Given the description of an element on the screen output the (x, y) to click on. 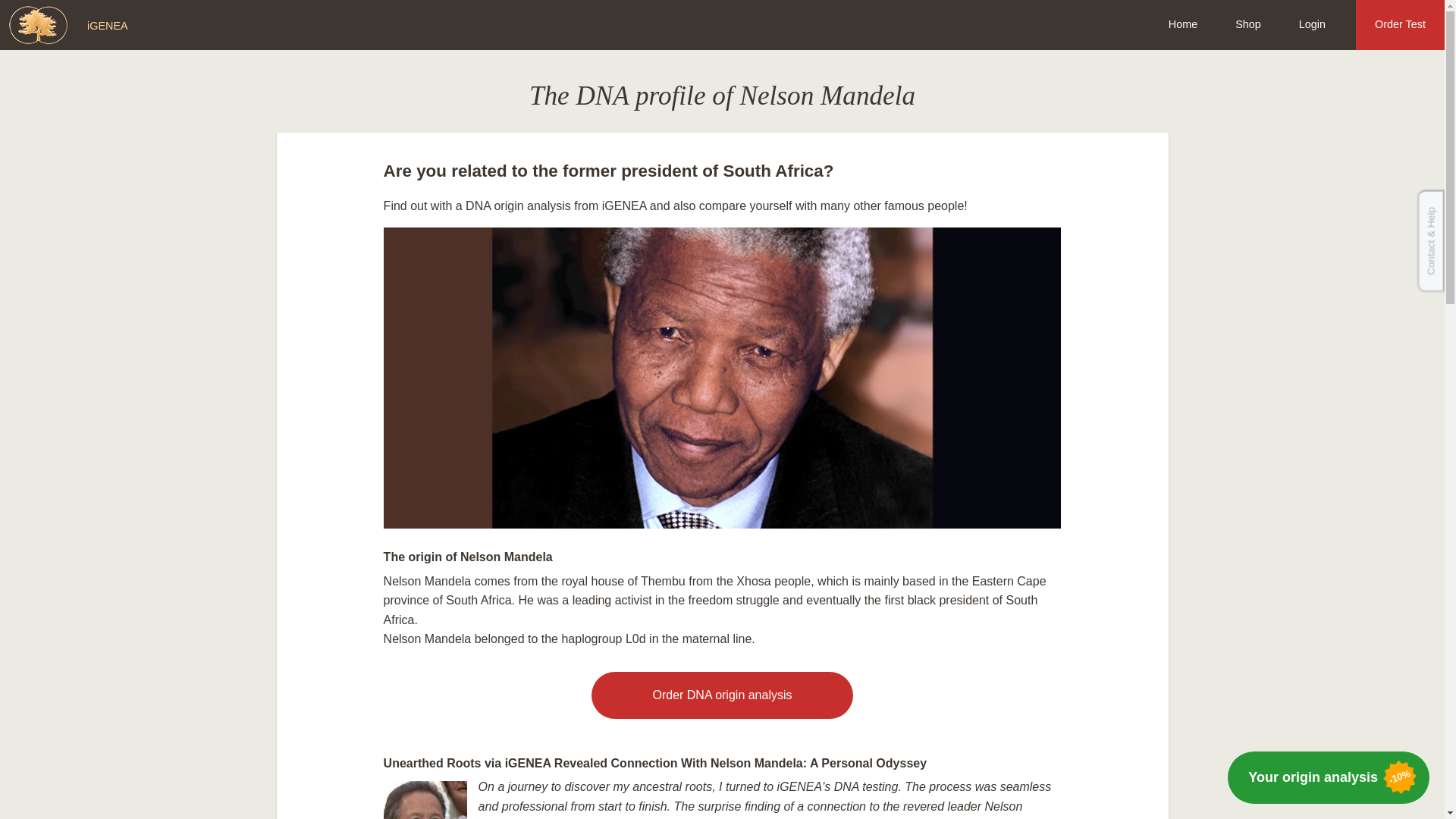
Shop (1247, 24)
Order DNA origin analysis (721, 695)
Home (1182, 24)
Order test kit (721, 695)
Login (1311, 24)
